Given the description of an element on the screen output the (x, y) to click on. 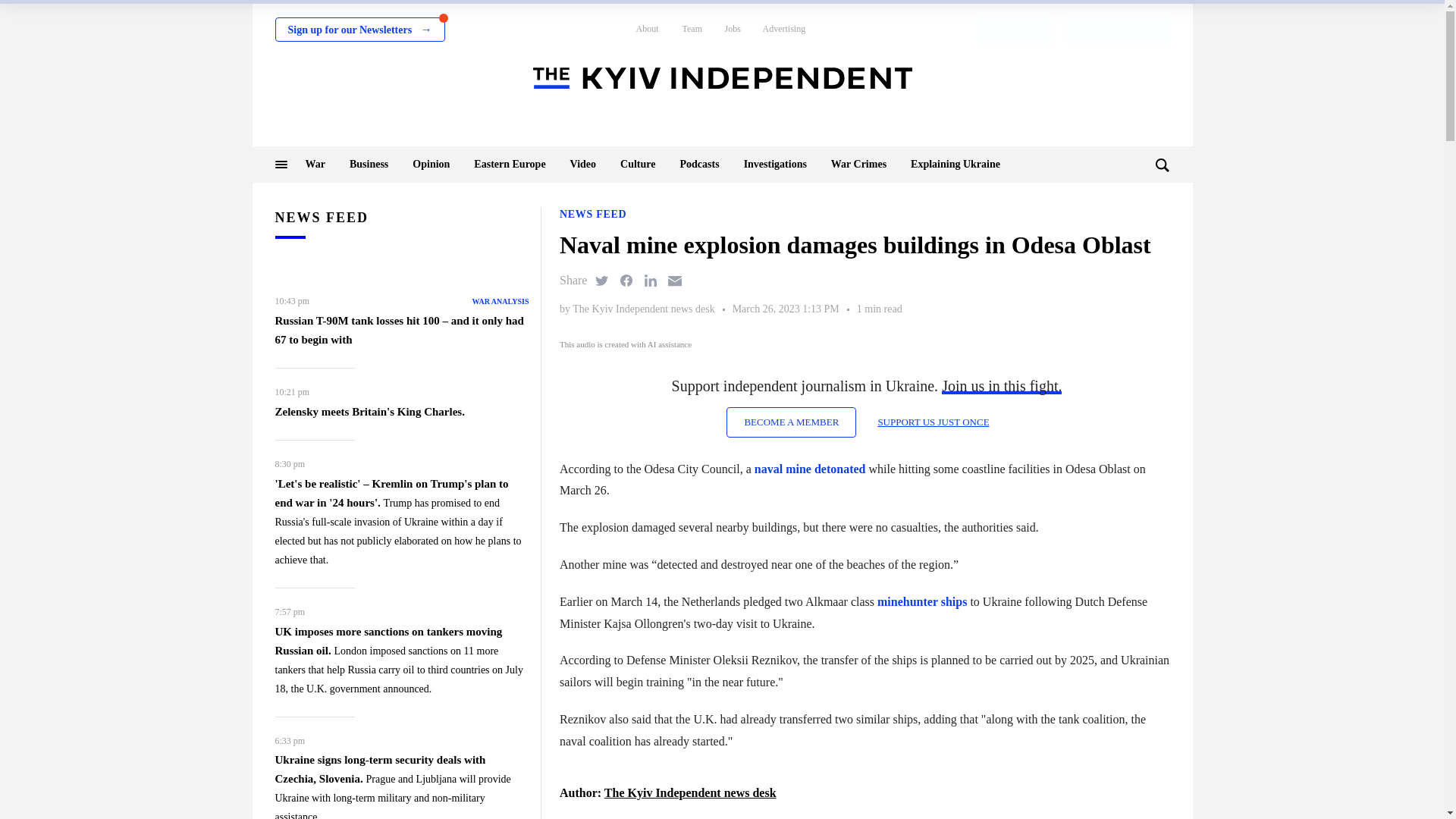
Opinion (430, 163)
Eastern Europe (509, 163)
About (646, 28)
Jobs (733, 28)
Team (691, 28)
Advertising (784, 28)
Video (582, 163)
Podcasts (699, 163)
Explaining Ukraine (955, 163)
Culture (637, 163)
War Crimes (858, 163)
Investigations (775, 163)
Business (368, 163)
War (314, 163)
